Given the description of an element on the screen output the (x, y) to click on. 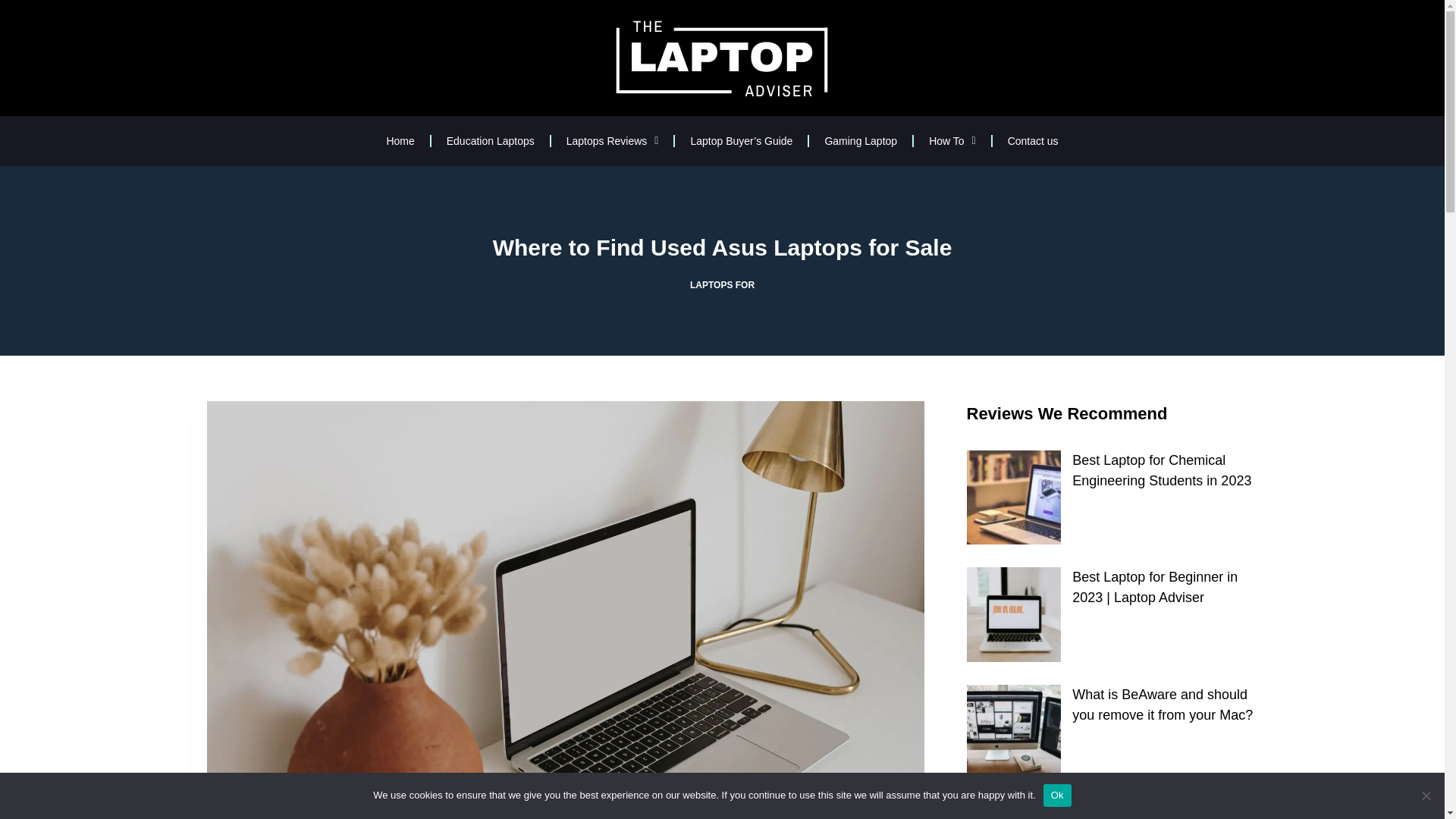
Contact us (1033, 140)
Gaming Laptop (860, 140)
What is BeAware and should you remove it from your Mac? (1161, 704)
LAPTOPS FOR (722, 285)
Best Laptop for Chemical Engineering Students in 2023 (1160, 470)
Home (400, 140)
Where to Find Used Asus Laptops for Sale (722, 247)
How To (952, 140)
Education Laptops (490, 140)
No (1425, 795)
Skip to content (15, 7)
Laptops Reviews (612, 140)
